Given the description of an element on the screen output the (x, y) to click on. 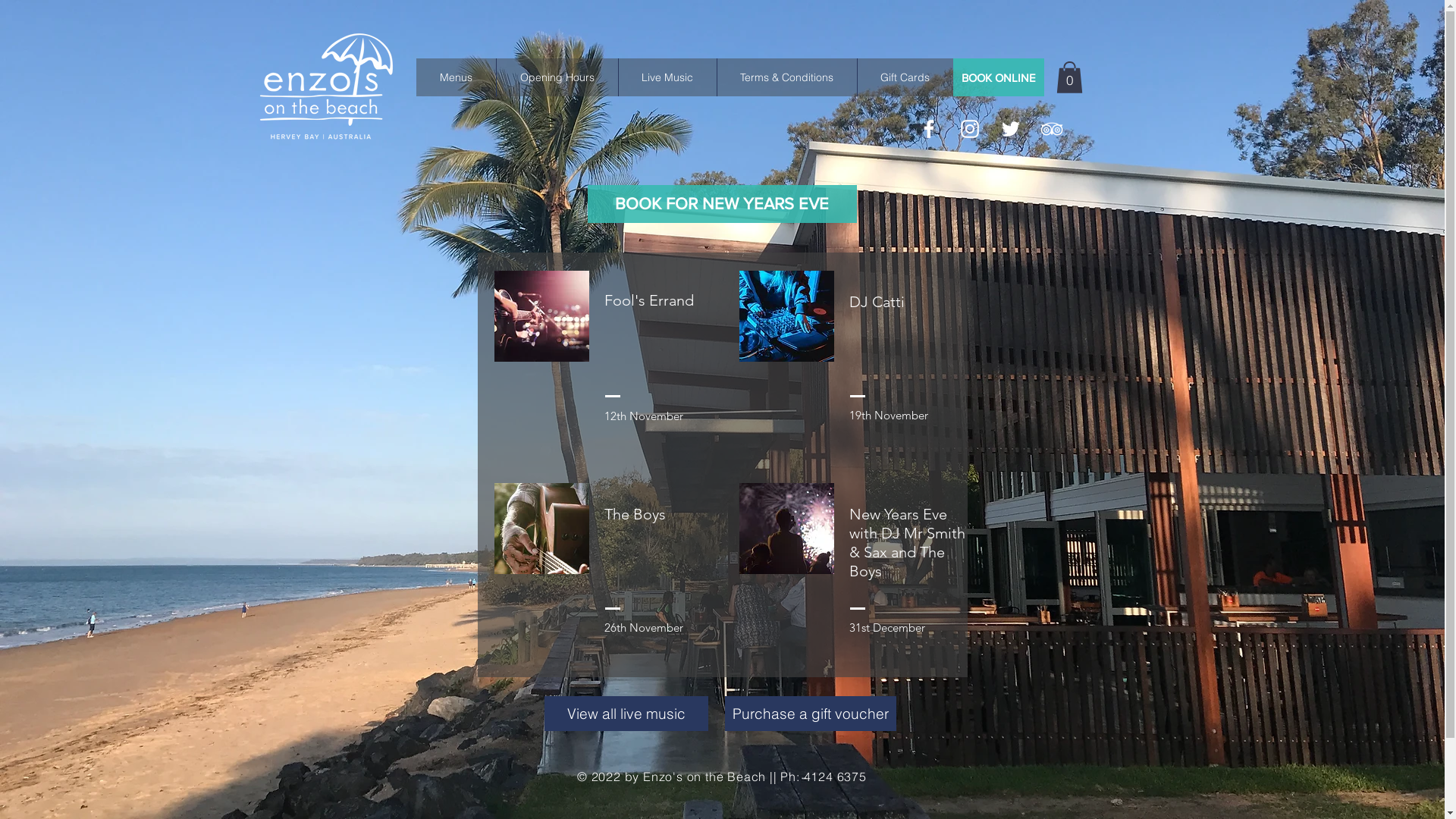
View all live music Element type: text (626, 713)
Live Music Element type: text (666, 77)
0 Element type: text (1068, 77)
BOOK ONLINE Element type: text (997, 77)
Menus Element type: text (455, 77)
Purchase a gift voucher Element type: text (810, 713)
BOOK FOR NEW YEARS EVE Element type: text (721, 203)
Opening Hours Element type: text (556, 77)
Terms & Conditions Element type: text (785, 77)
Gift Cards Element type: text (904, 77)
